Given the description of an element on the screen output the (x, y) to click on. 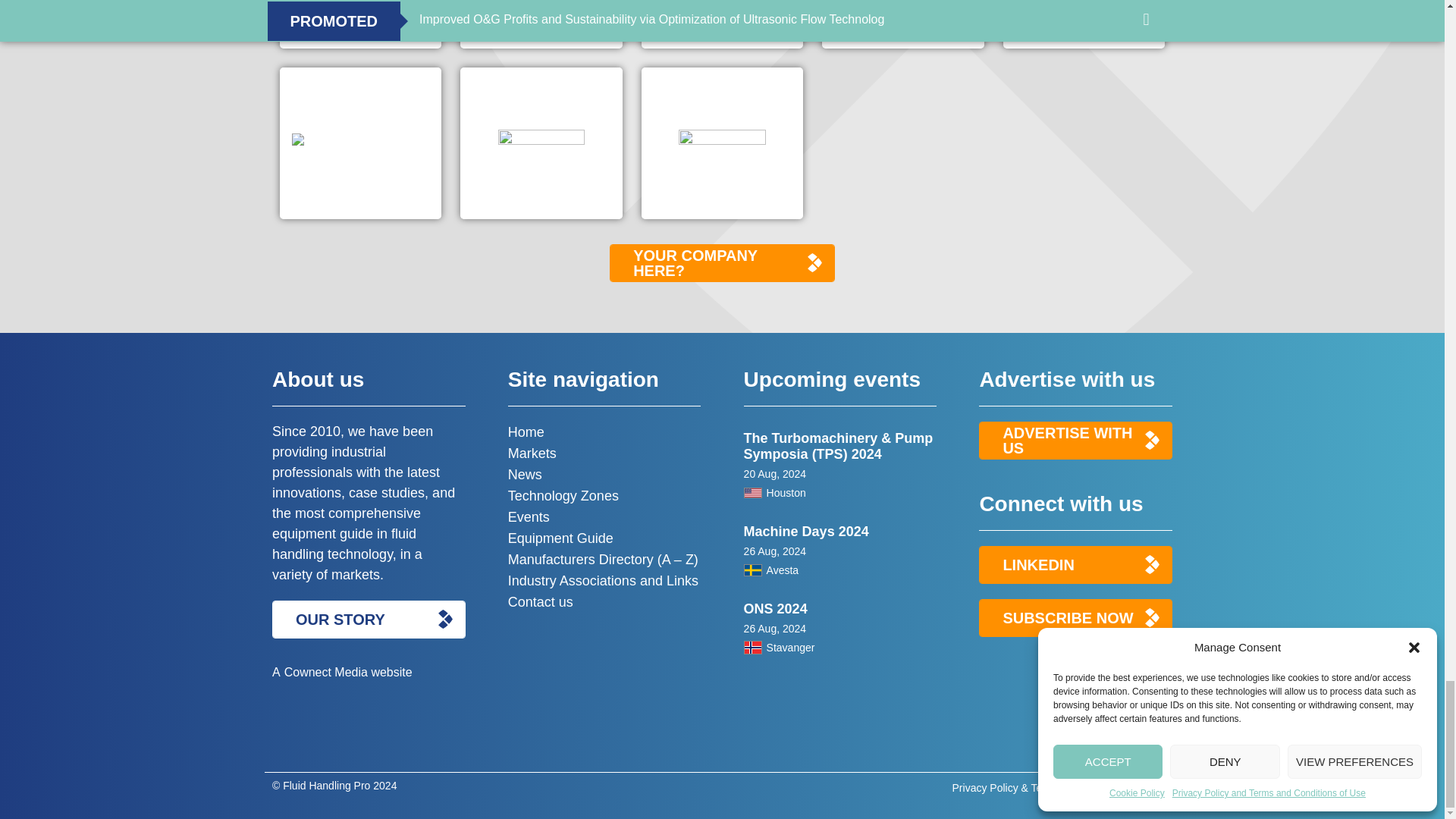
Norway (752, 647)
Sweden (752, 570)
United States (752, 492)
